Given the description of an element on the screen output the (x, y) to click on. 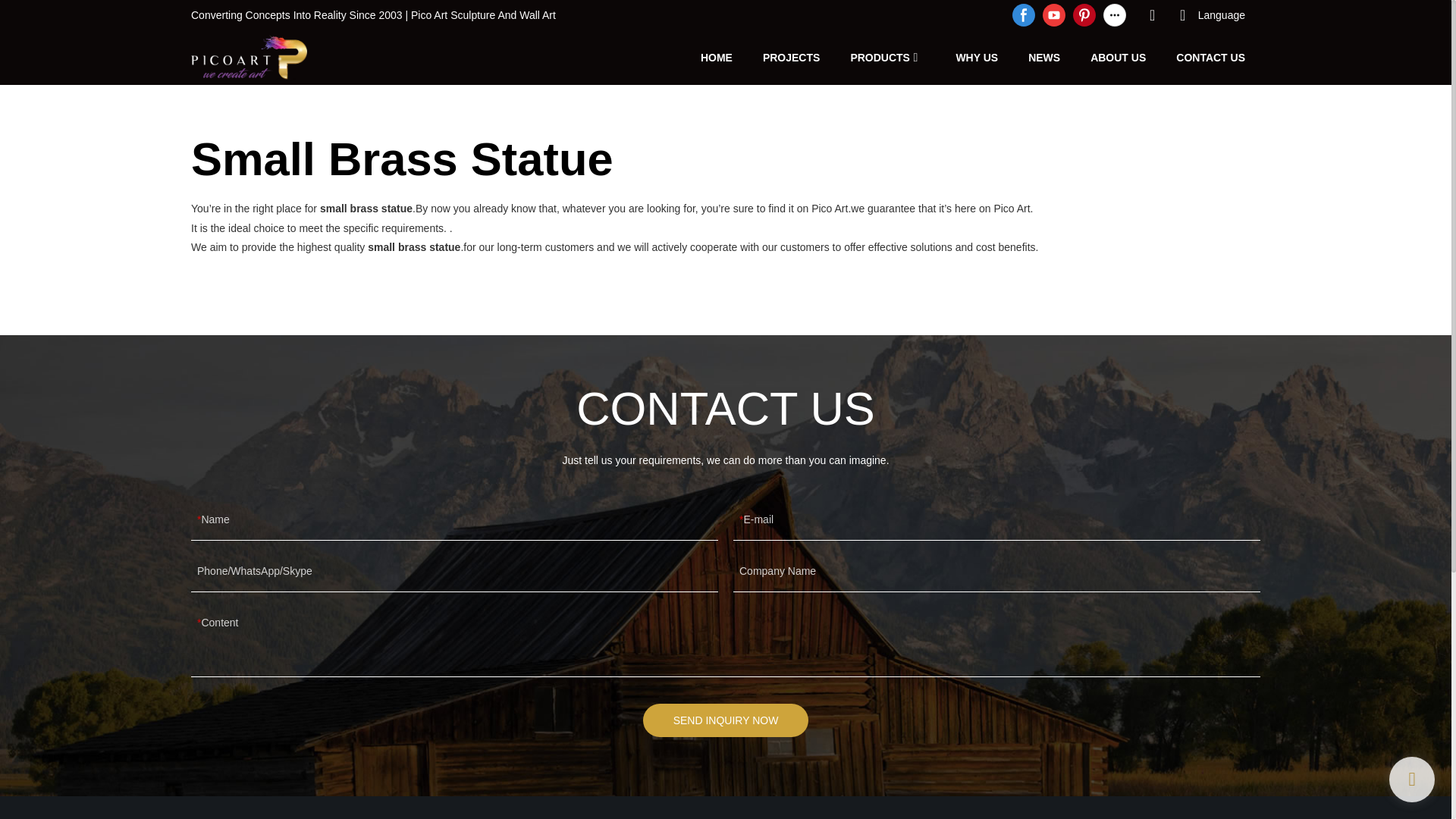
ABOUT US (1117, 57)
PRODUCTS (880, 57)
facebook (1024, 15)
HOME (716, 57)
youtube (1053, 15)
pinterest (1083, 15)
PROJECTS (790, 57)
CONTACT US (1210, 57)
NEWS (1043, 57)
WHY US (976, 57)
SEND INQUIRY NOW (726, 720)
